Given the description of an element on the screen output the (x, y) to click on. 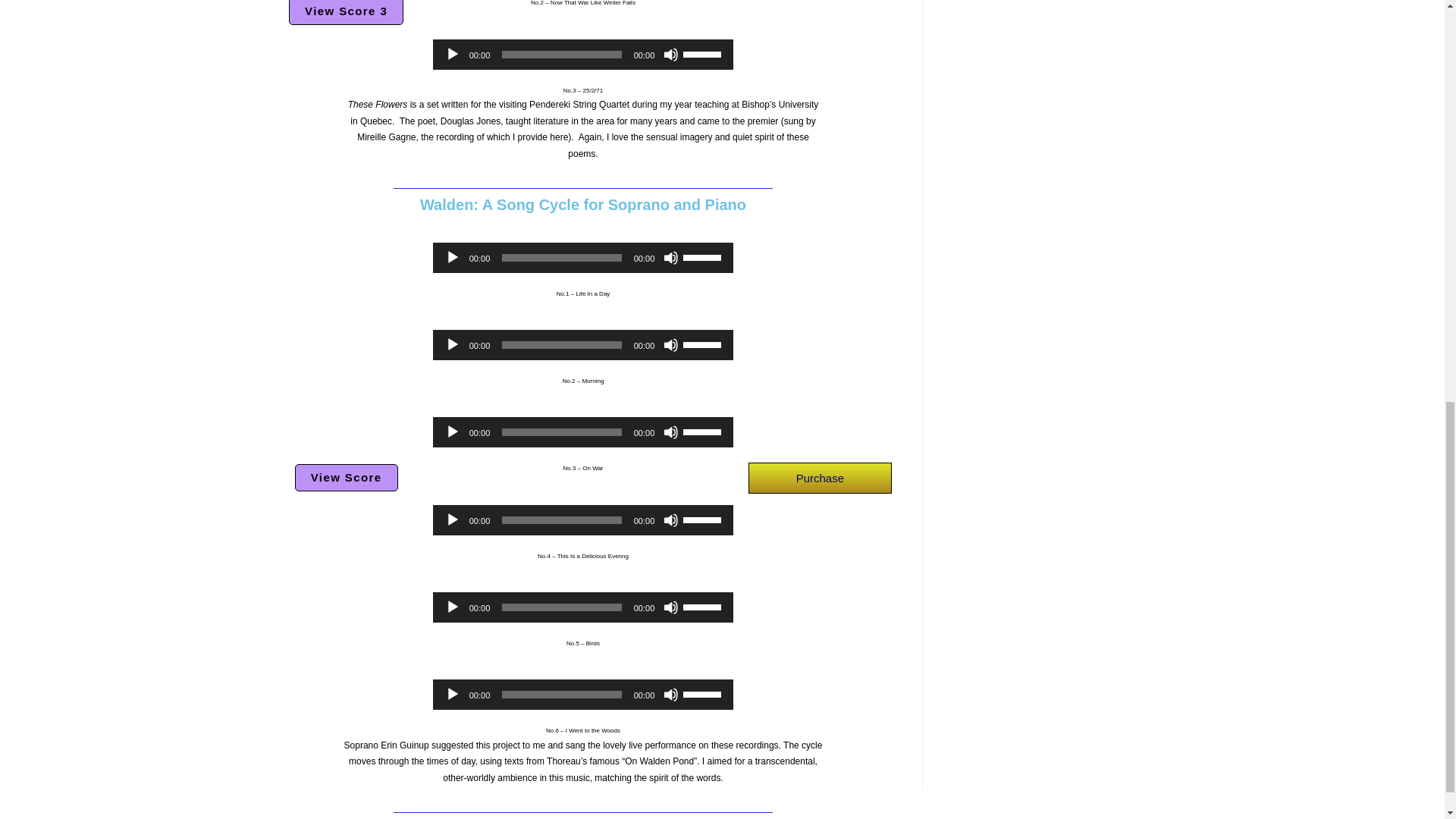
Play (452, 344)
Play (452, 519)
Play (452, 257)
Mute (670, 257)
Mute (670, 432)
Mute (670, 344)
Play (452, 54)
Play (452, 432)
Mute (670, 54)
